Given the description of an element on the screen output the (x, y) to click on. 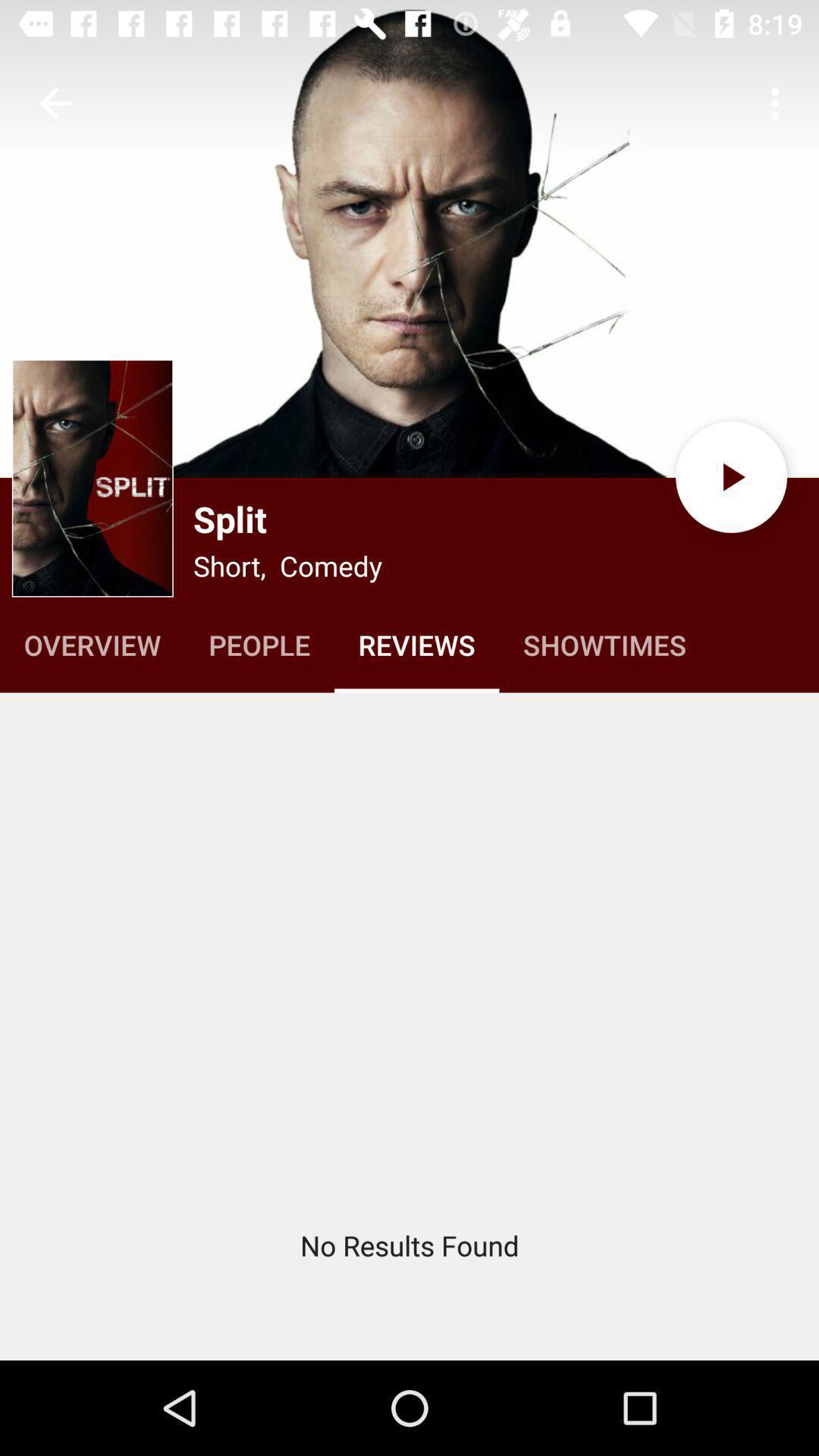
play option (731, 476)
